Given the description of an element on the screen output the (x, y) to click on. 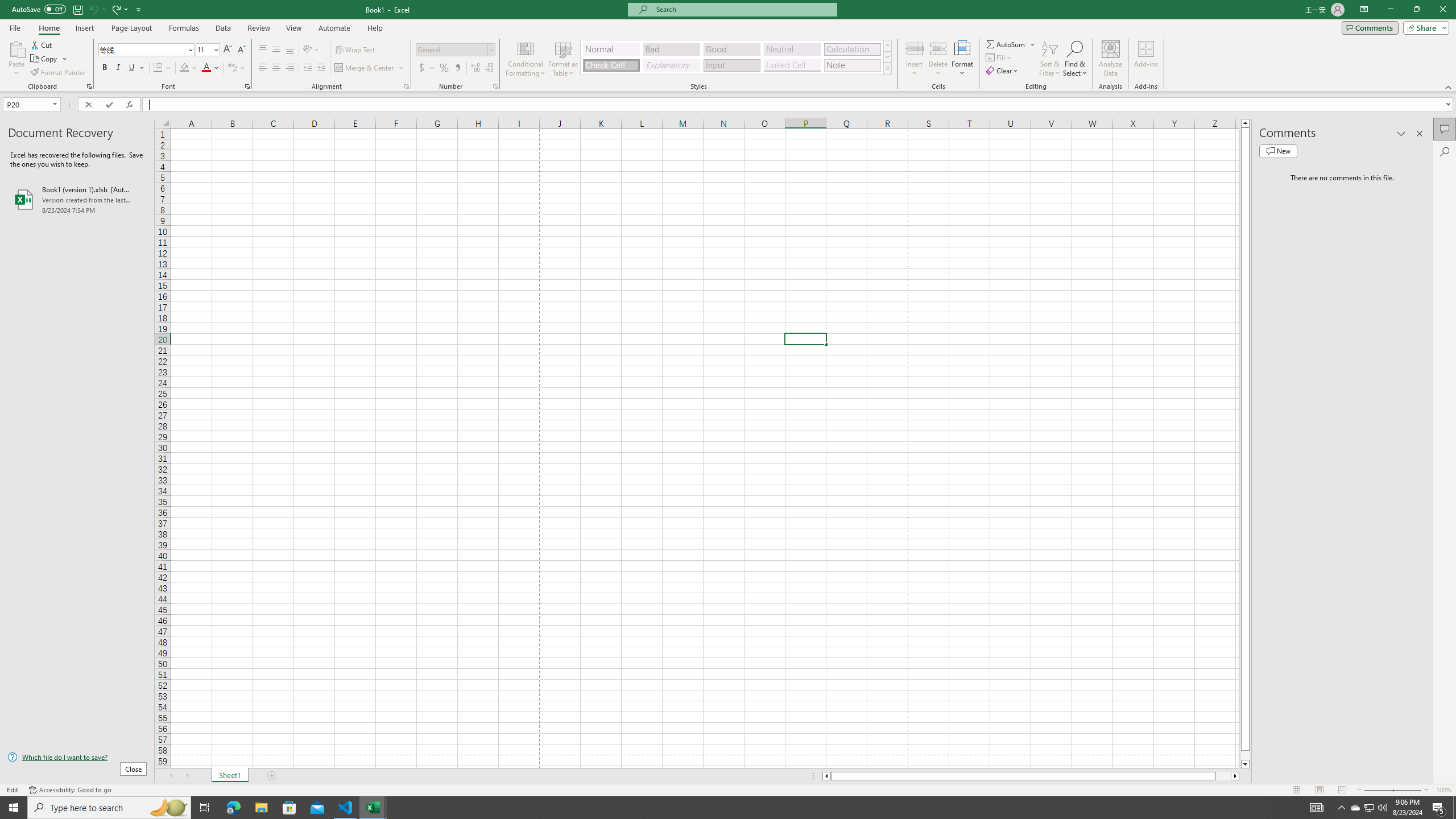
Ribbon Display Options (1364, 9)
Paste (16, 58)
Class: NetUIScrollBar (1030, 775)
Zoom (1392, 790)
Accessibility Checker Accessibility: Good to go (70, 790)
Minimize (1390, 9)
Explanatory Text (671, 65)
Paste (16, 48)
Increase Indent (320, 67)
Format (962, 58)
Sheet1 (229, 775)
Align Left (262, 67)
